Given the description of an element on the screen output the (x, y) to click on. 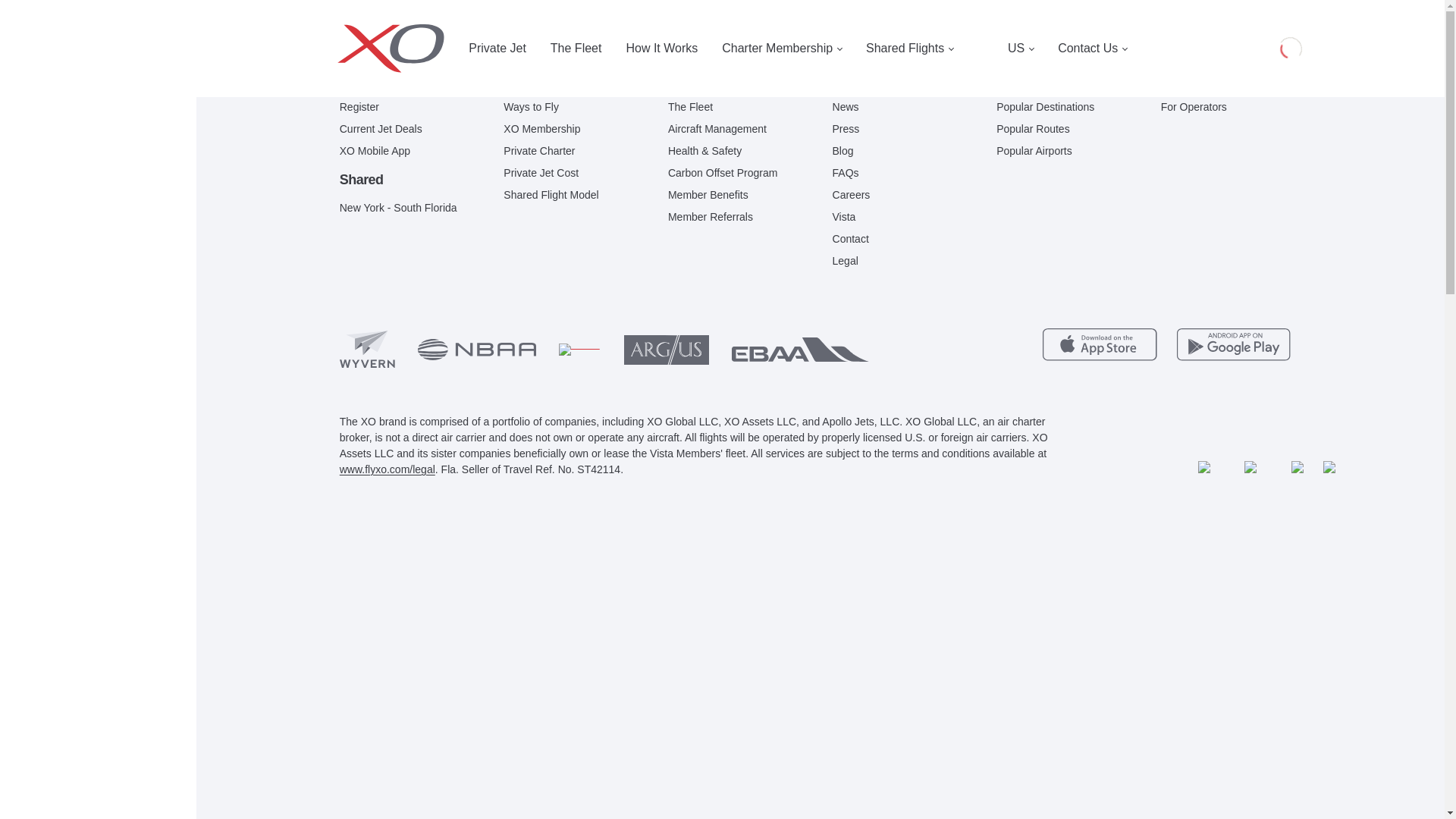
Private Jet (364, 84)
Charter Membership (781, 48)
How It Works (661, 48)
Private Jet (397, 48)
XO Mobile App (374, 150)
Current Jet Deals (380, 129)
US (1021, 48)
Book a private jet with XO (397, 48)
Aircraft Management (717, 129)
The Fleet (576, 48)
